Given the description of an element on the screen output the (x, y) to click on. 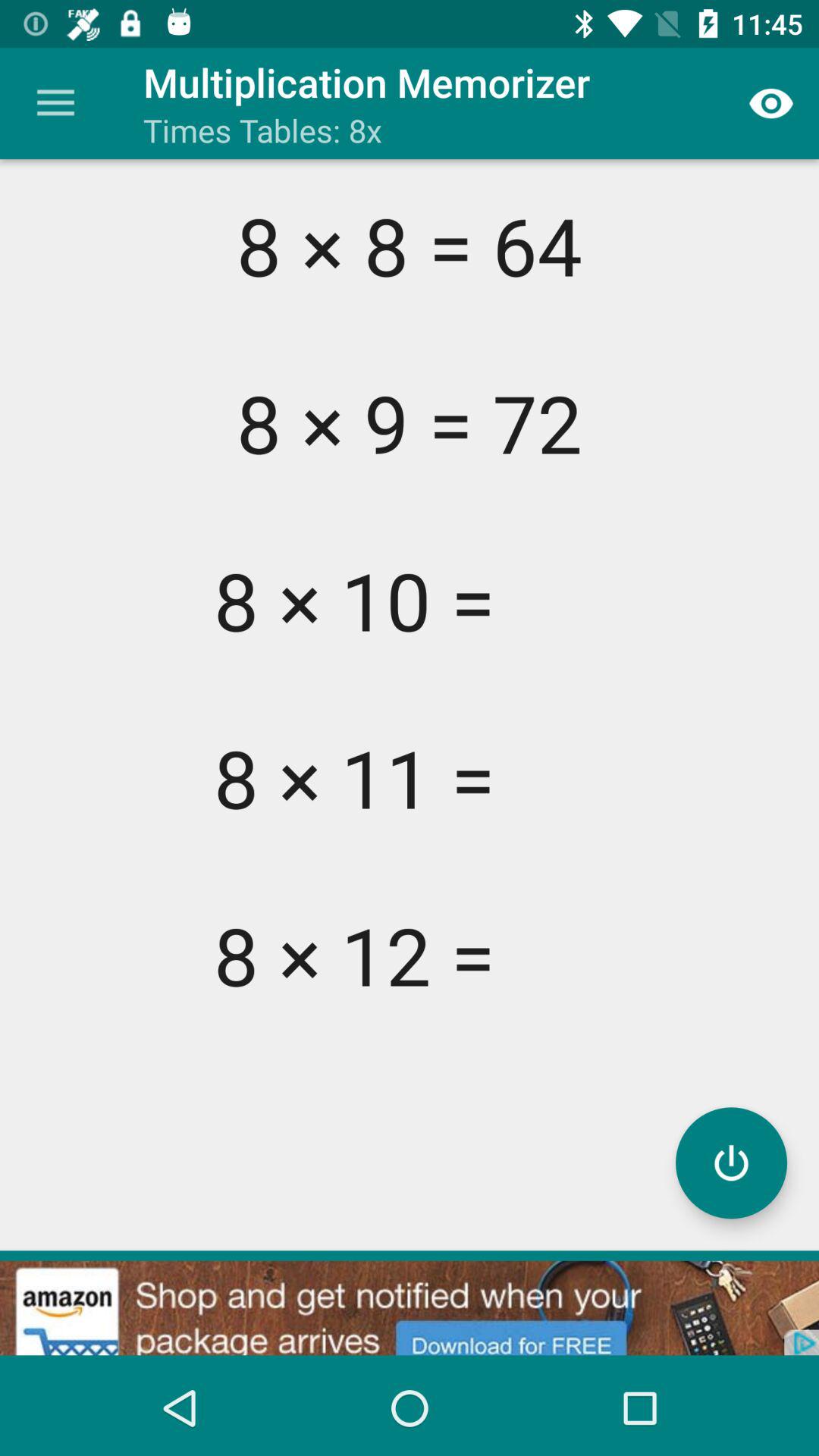
close the multiplication memorizer (731, 1162)
